Given the description of an element on the screen output the (x, y) to click on. 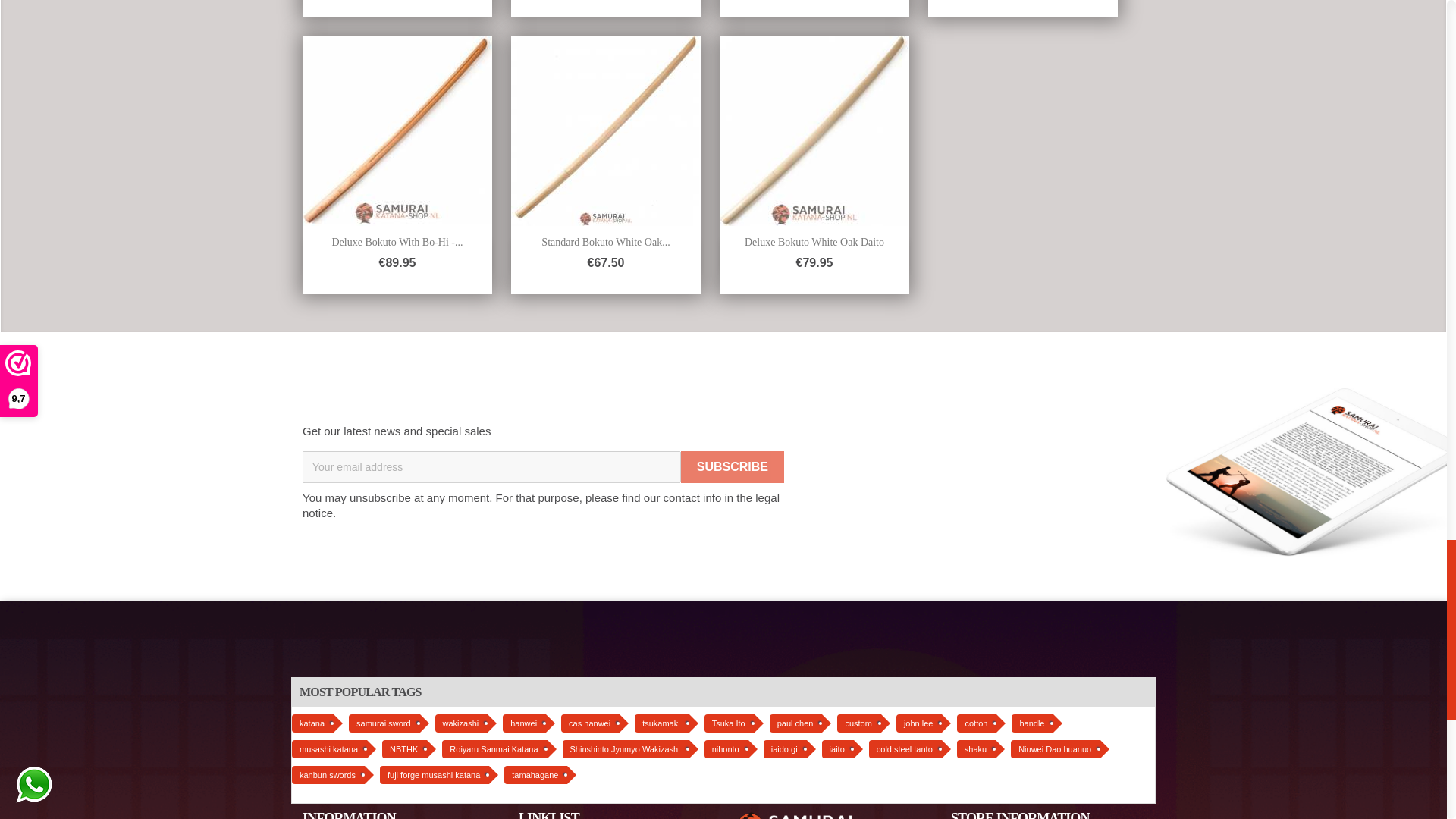
Subscribe (732, 467)
